Given the description of an element on the screen output the (x, y) to click on. 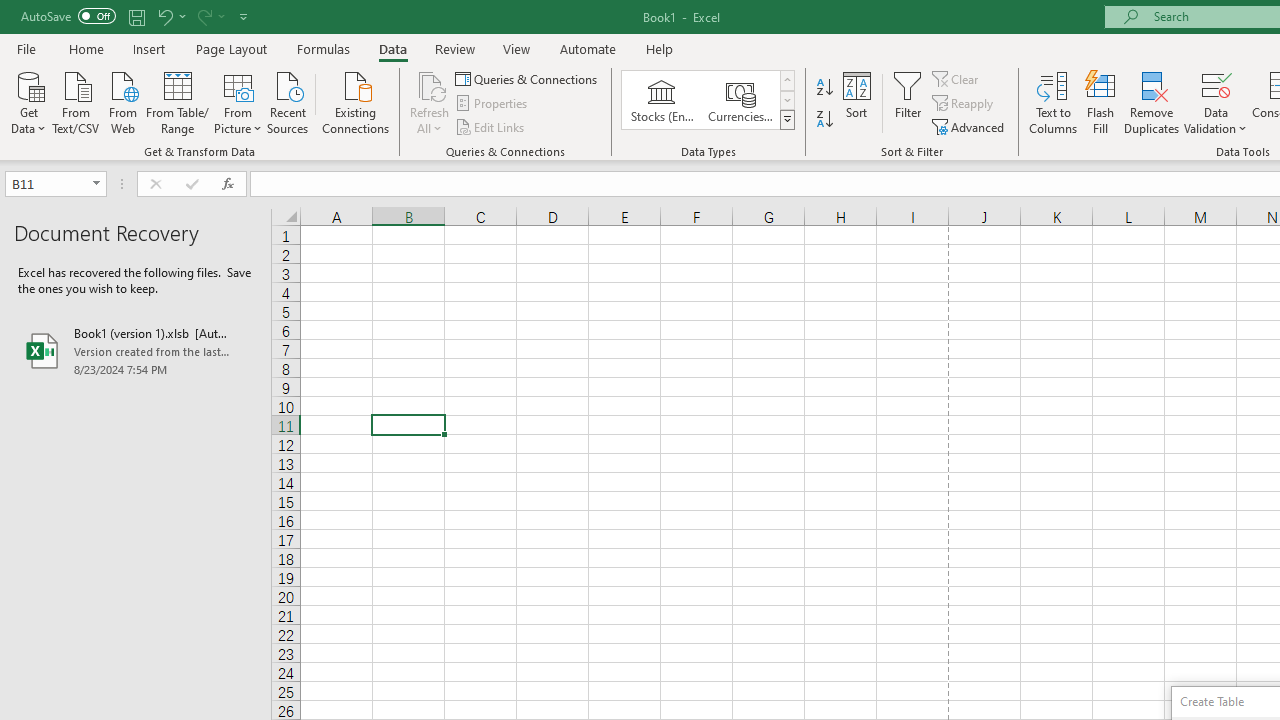
File Tab (26, 48)
Stocks (English) (662, 100)
Data (392, 48)
Remove Duplicates (1151, 102)
Text to Columns... (1053, 102)
From Text/CSV (75, 101)
Data Types (786, 120)
Data Validation... (1215, 84)
Sort... (856, 102)
Customize Quick Access Toolbar (244, 15)
Home (86, 48)
Existing Connections (355, 101)
